Given the description of an element on the screen output the (x, y) to click on. 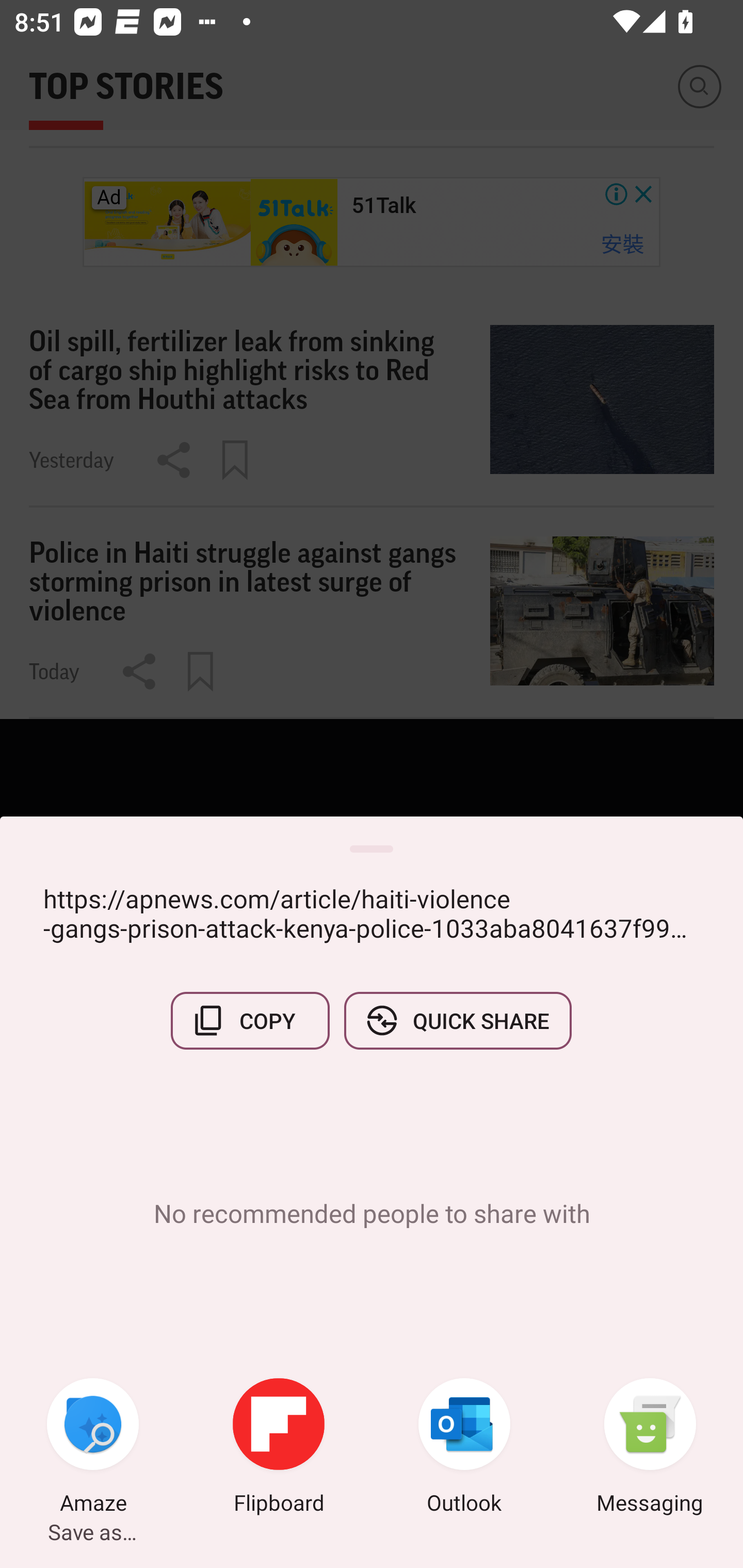
COPY (249, 1020)
QUICK SHARE (457, 1020)
Amaze Save as… (92, 1448)
Flipboard (278, 1448)
Outlook (464, 1448)
Messaging (650, 1448)
